Given the description of an element on the screen output the (x, y) to click on. 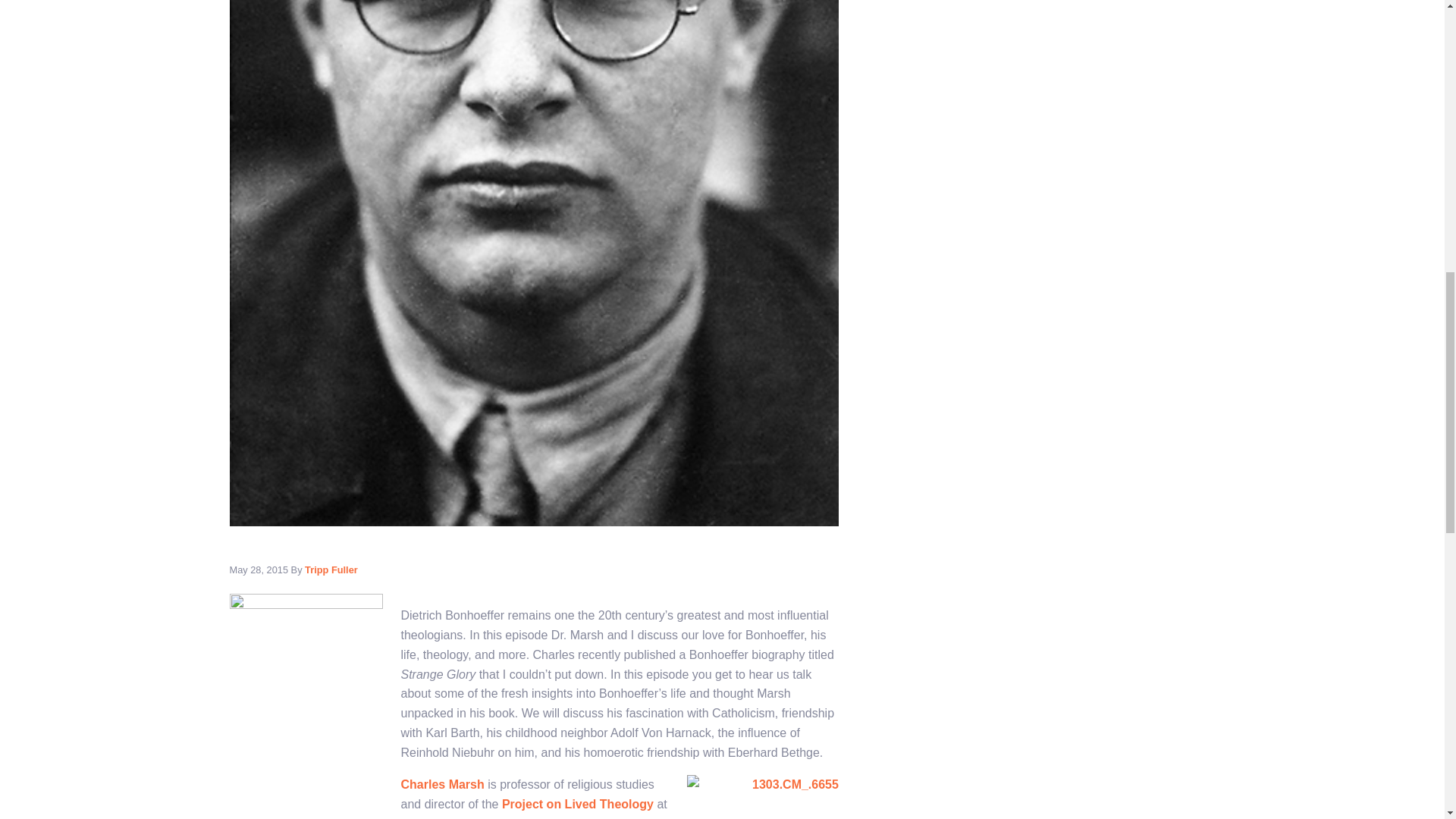
Tripp Fuller (331, 569)
Charles Marsh (441, 784)
University of Virginia (480, 818)
Project on Lived Theology (579, 803)
